Given the description of an element on the screen output the (x, y) to click on. 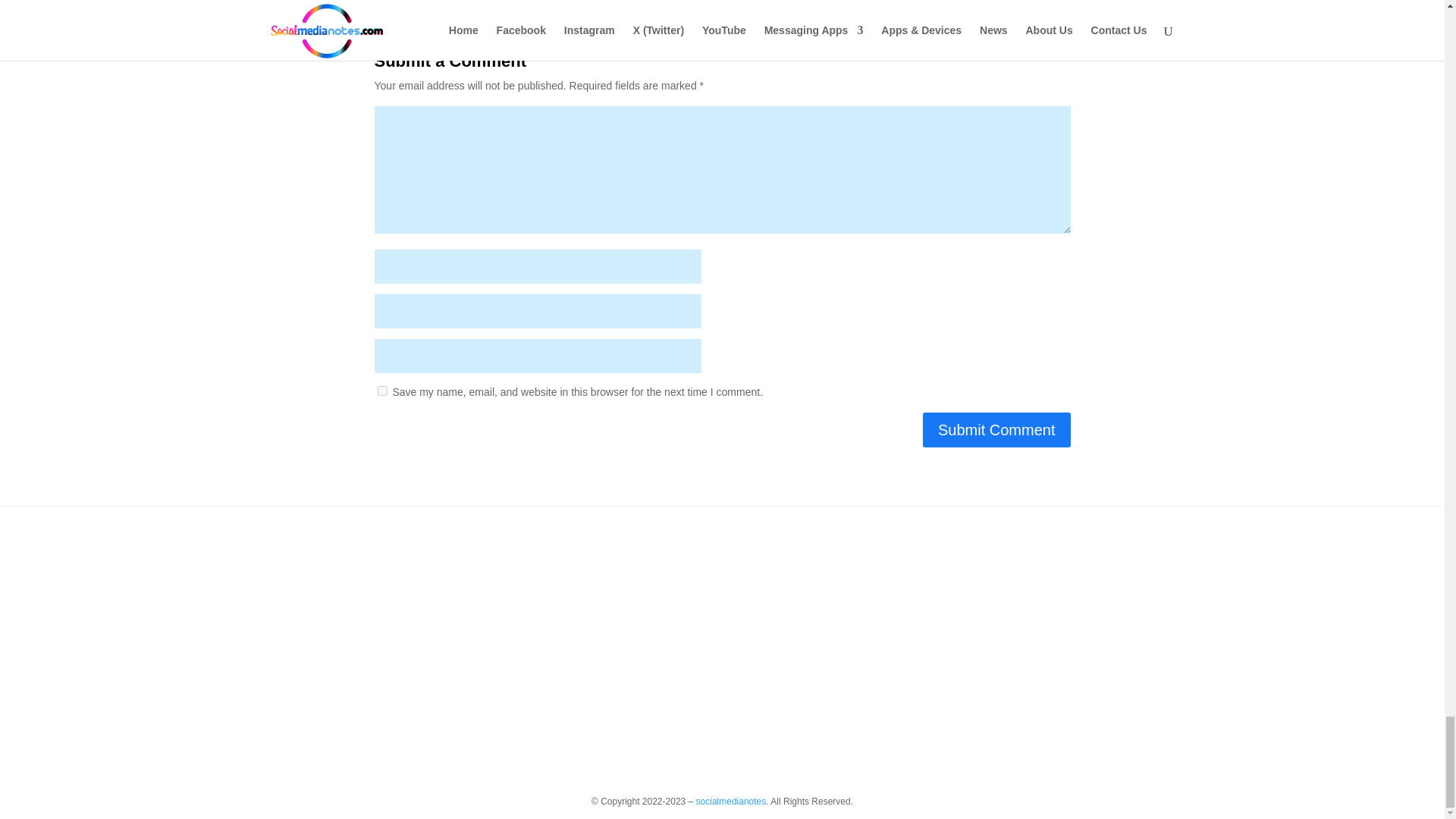
yes (382, 390)
